Given the description of an element on the screen output the (x, y) to click on. 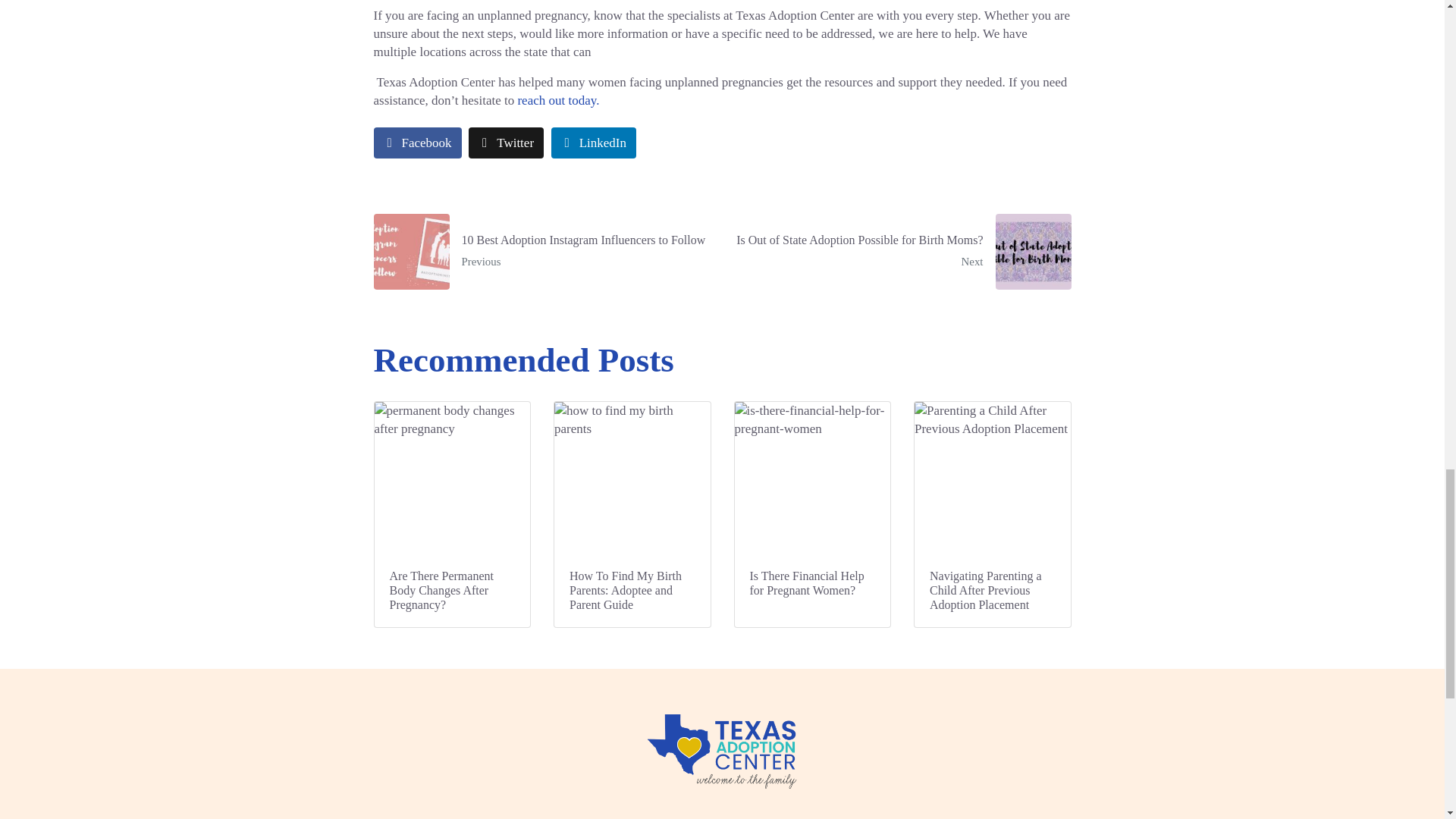
Is Out of State Adoption Possible for Birth Moms? (901, 251)
10 Best Adoption Instagram Influencers to Follow (542, 251)
